Given the description of an element on the screen output the (x, y) to click on. 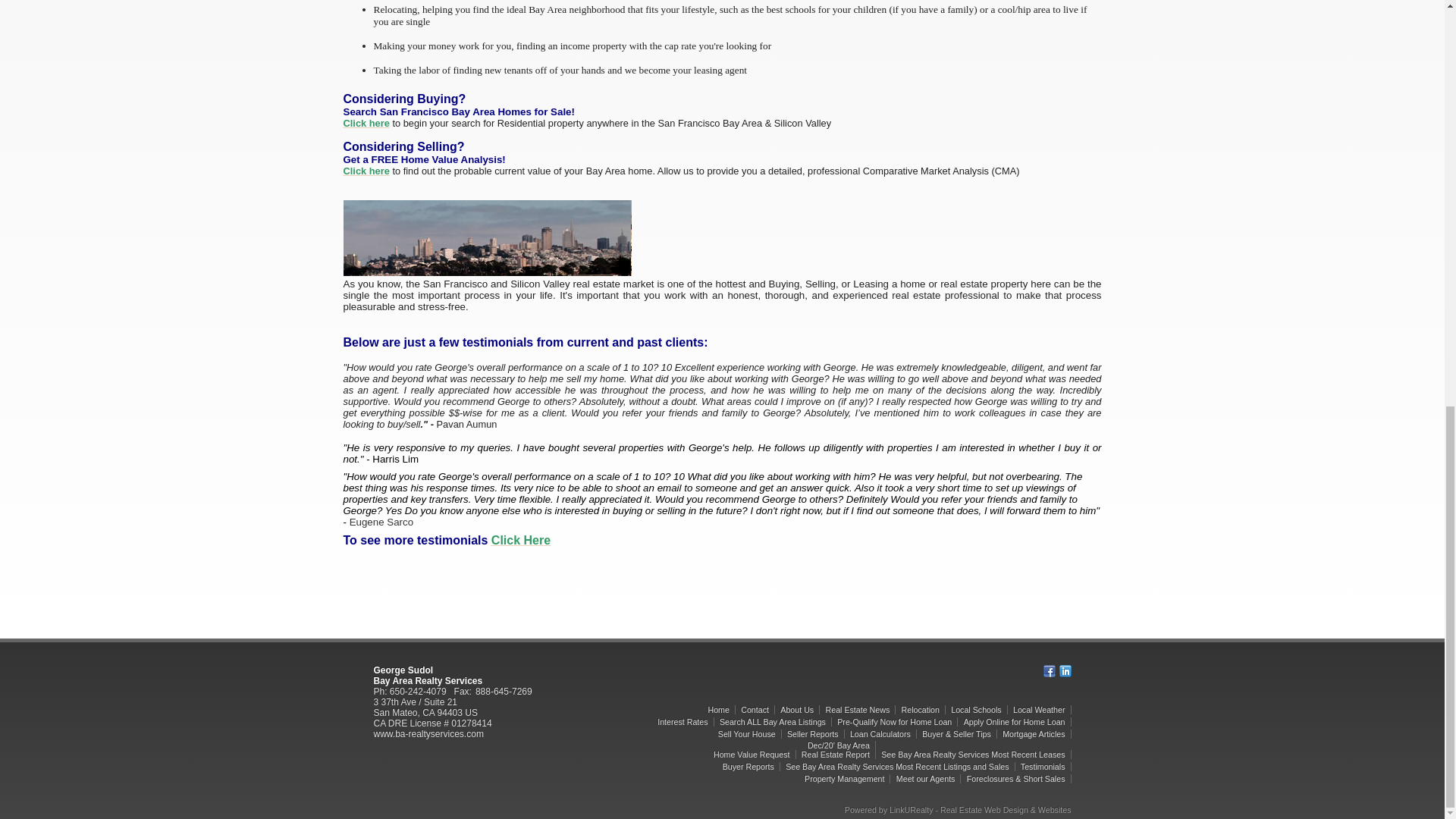
LinkedIn (1064, 671)
Click here (365, 122)
Facebook (1049, 671)
